Given the description of an element on the screen output the (x, y) to click on. 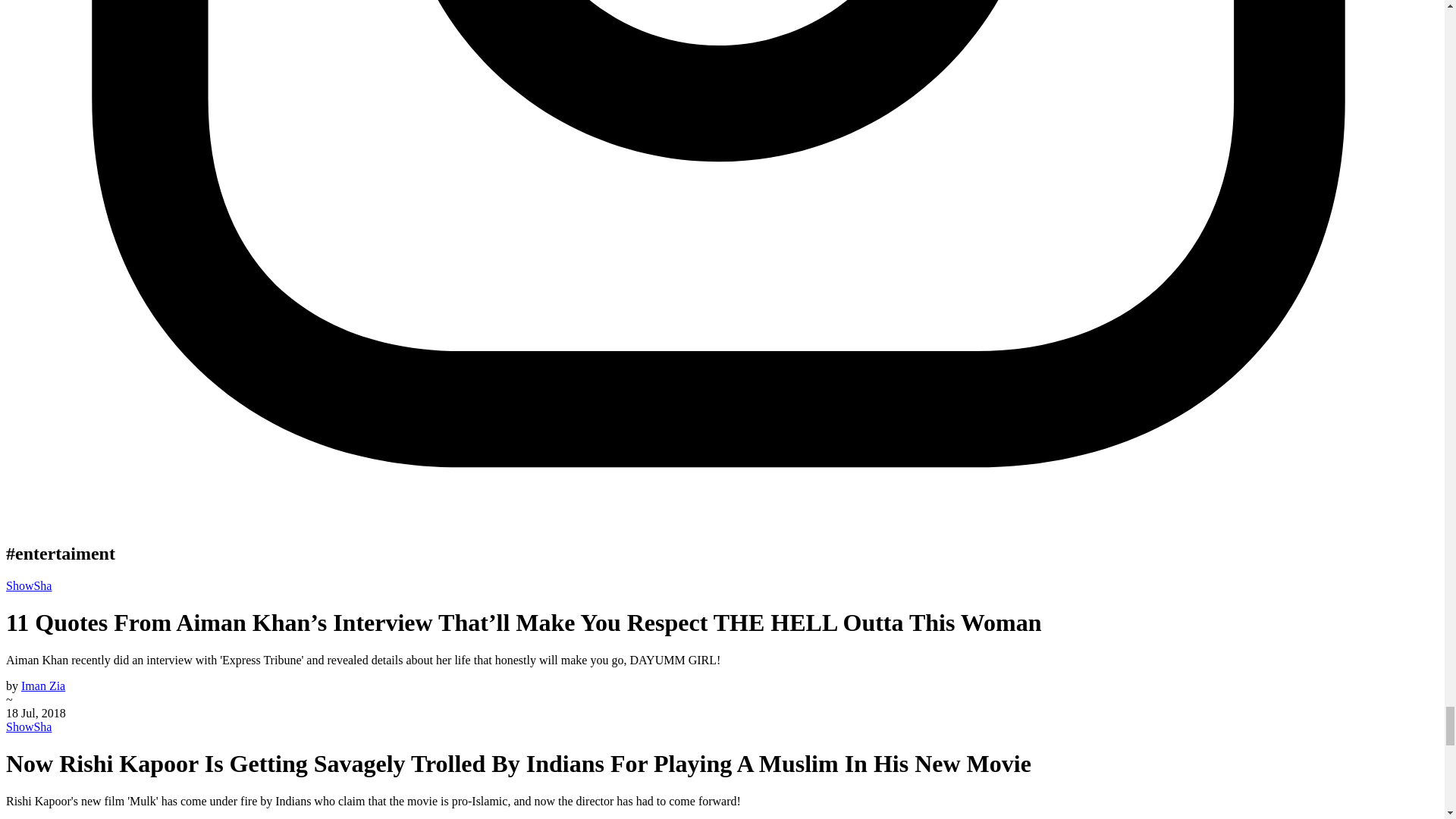
Iman Zia (43, 685)
ShowSha (27, 585)
ShowSha (27, 726)
